Given the description of an element on the screen output the (x, y) to click on. 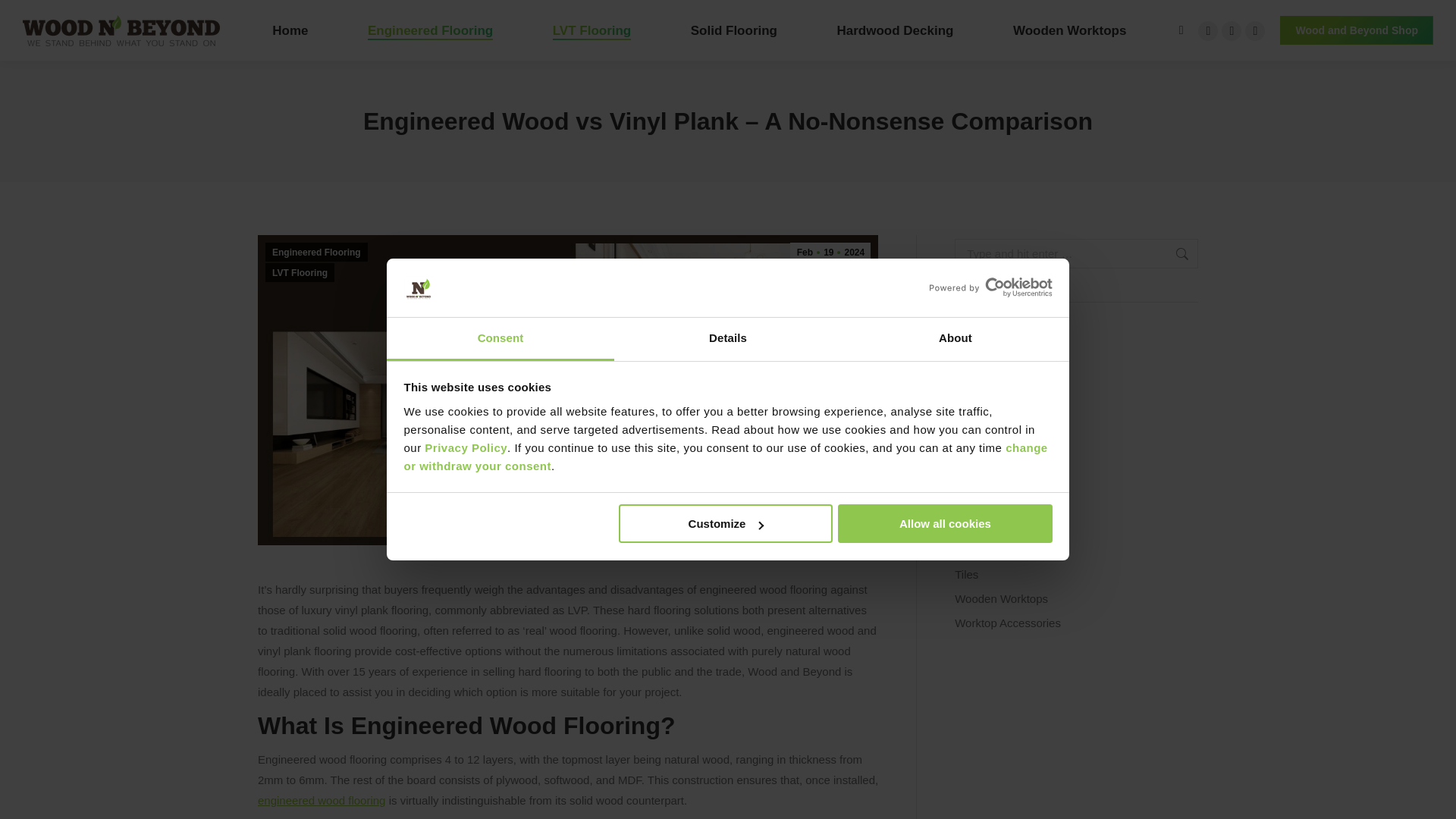
Privacy Policy (465, 447)
Consent (500, 339)
About (954, 339)
Go! (1173, 253)
Facebook page opens in new window (1207, 30)
Details (727, 339)
change or withdraw your consent (724, 456)
Go! (1173, 253)
